Given the description of an element on the screen output the (x, y) to click on. 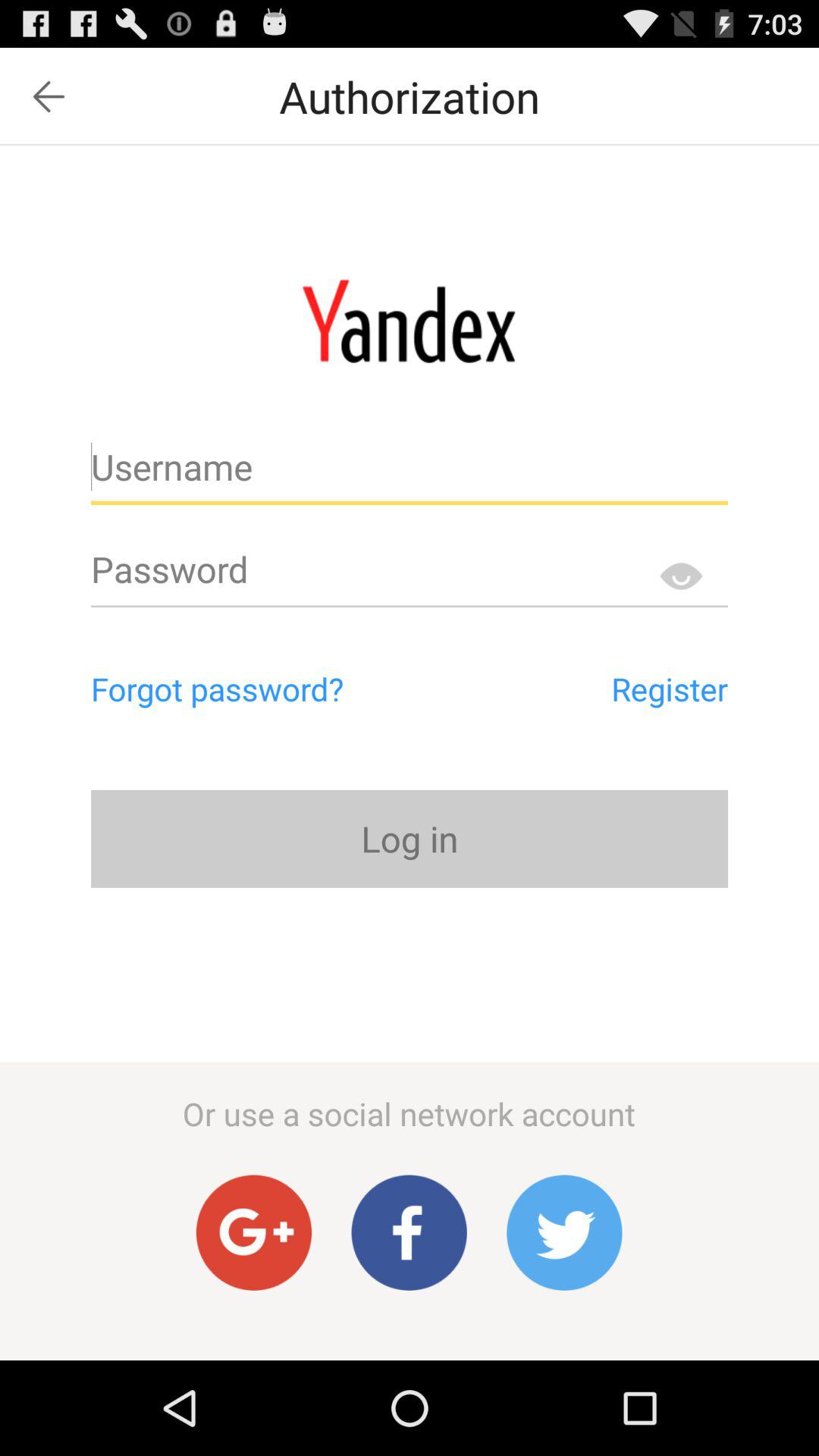
go to main page (408, 320)
